Given the description of an element on the screen output the (x, y) to click on. 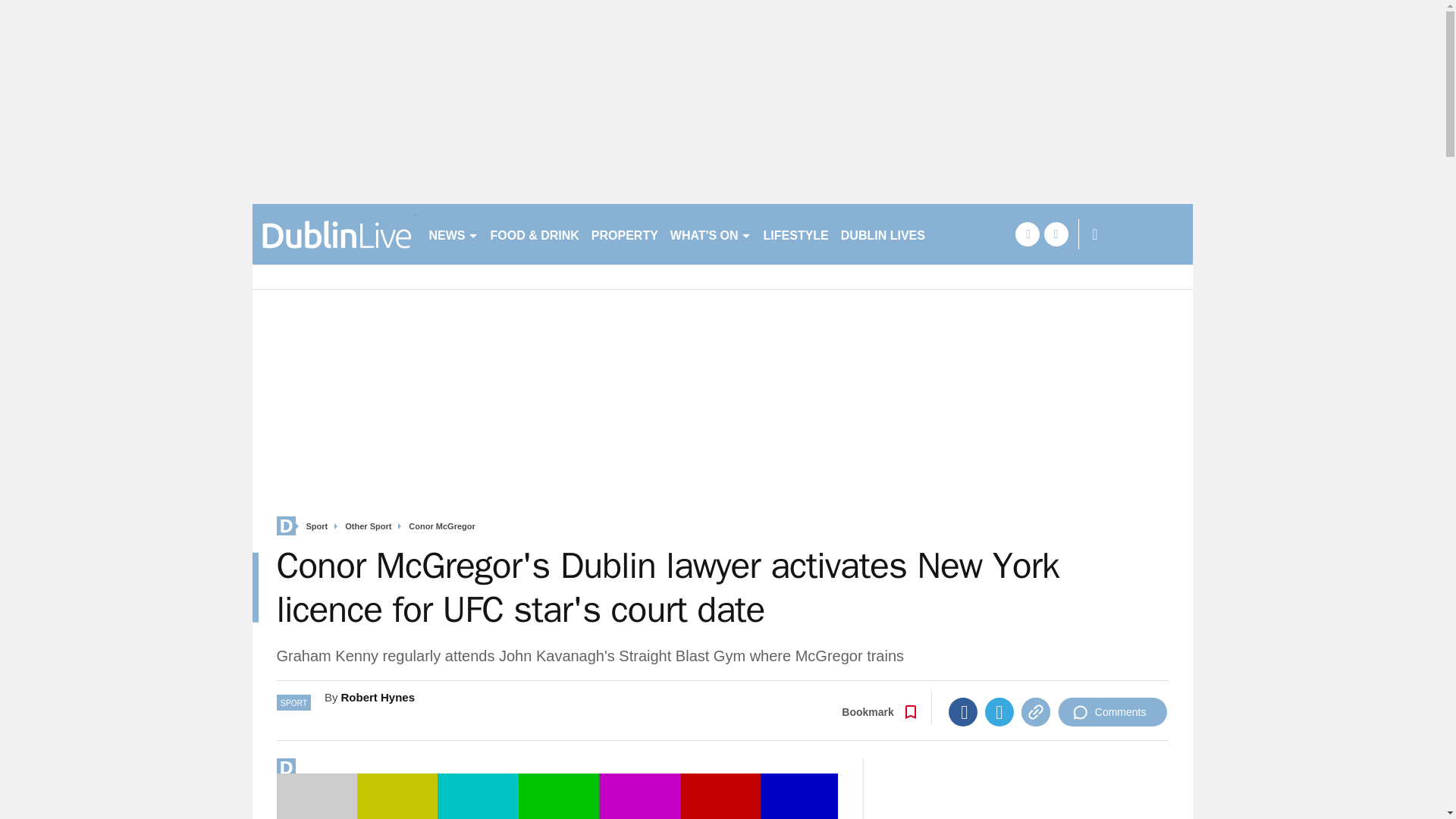
SOCCER (962, 233)
dublinlive (332, 233)
NEWS (453, 233)
Facebook (962, 711)
Twitter (999, 711)
facebook (1026, 233)
LIFESTYLE (795, 233)
DUBLIN LIVES (882, 233)
PROPERTY (624, 233)
Comments (1112, 711)
